Given the description of an element on the screen output the (x, y) to click on. 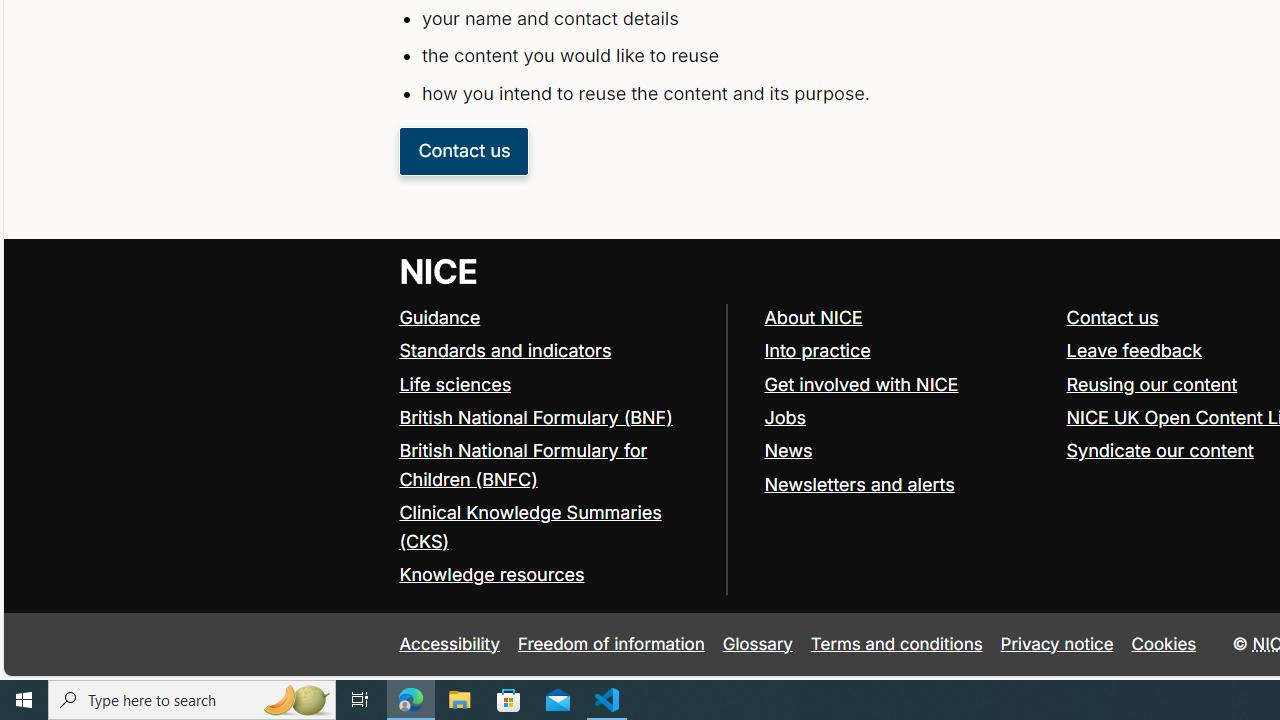
how you intend to reuse the content and its purpose. (796, 94)
Life sciences (554, 385)
Cookies (1163, 644)
Freedom of information (611, 644)
Into practice (906, 350)
British National Formulary for Children (BNFC) (523, 464)
Newsletters and alerts (906, 484)
Syndicate our content (1160, 450)
Privacy notice (1056, 644)
Life sciences (455, 383)
Newsletters and alerts (859, 484)
Glossary (757, 644)
